Given the description of an element on the screen output the (x, y) to click on. 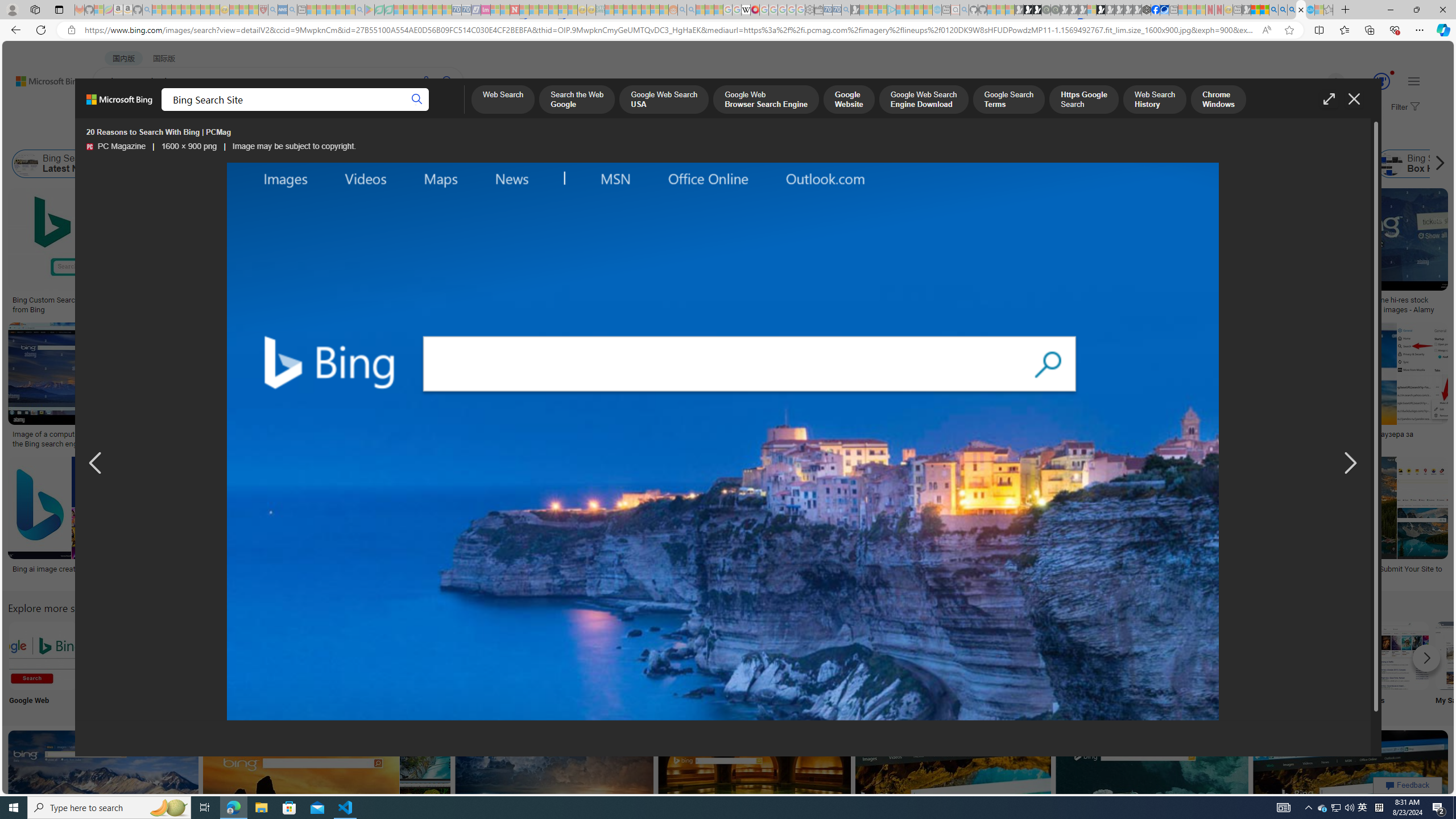
Bing Search Site - Search Images (1300, 9)
Clip Art (493, 665)
Bing Advanced Search Tricks You Should Know (460, 299)
Bing Mugs (802, 296)
Bing Search App Logo (118, 654)
Play Zoo Boom in your browser | Games from Microsoft Start (1027, 9)
Intelligent (1093, 665)
WEB (114, 111)
Bing Search Box History (1390, 163)
